Given the description of an element on the screen output the (x, y) to click on. 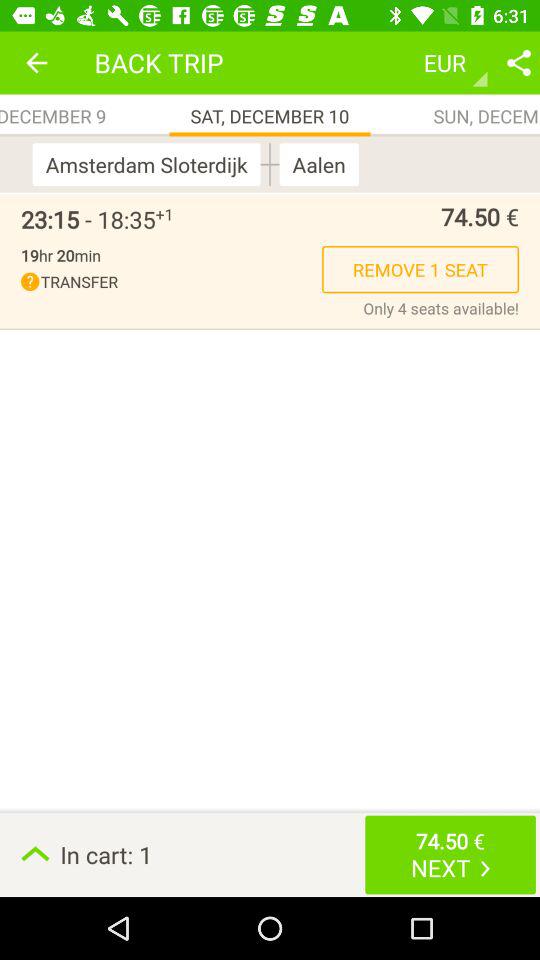
choose the item below the sat, december 10 app (314, 164)
